Given the description of an element on the screen output the (x, y) to click on. 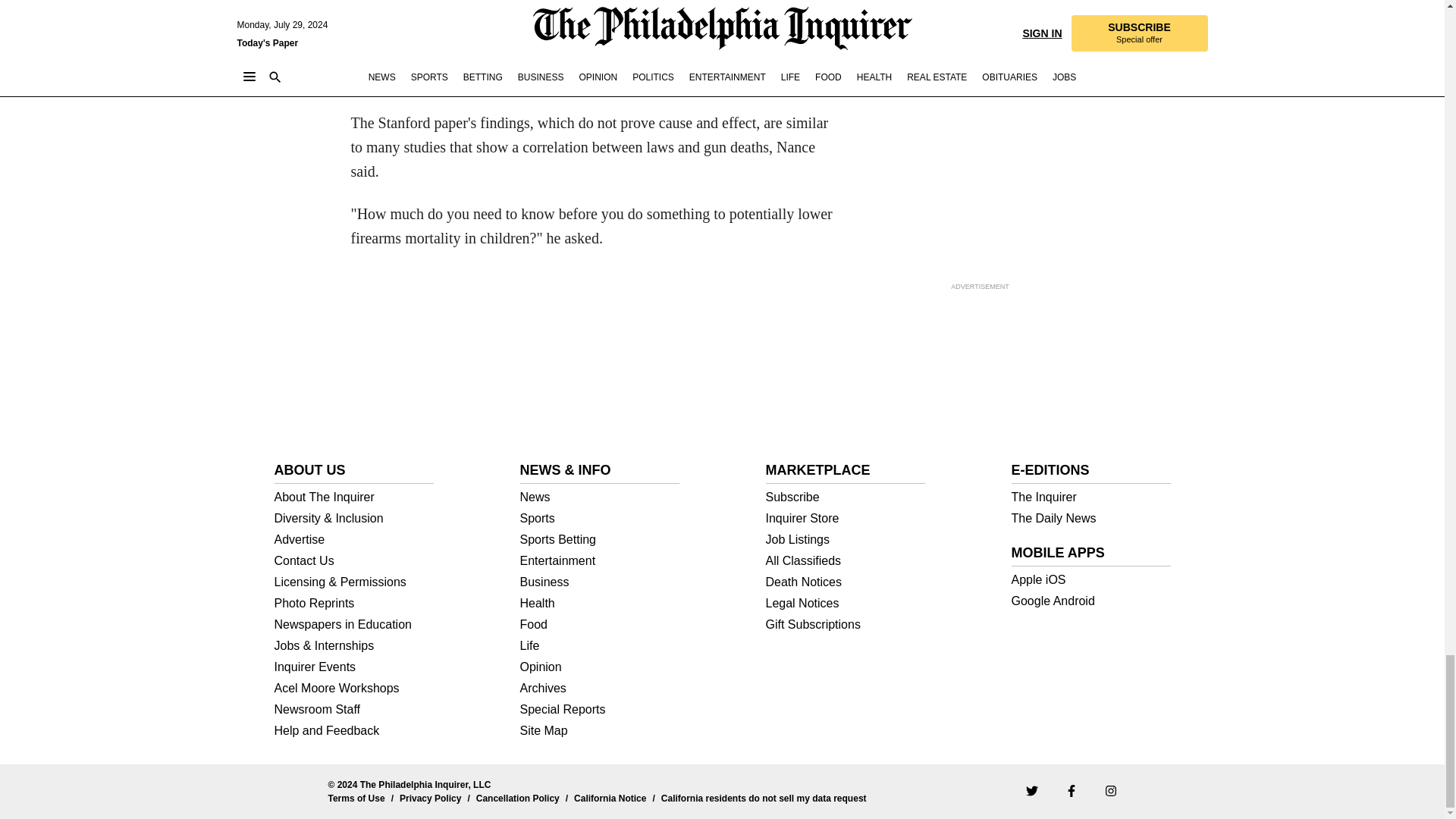
Twitter (1030, 790)
Instagram (1109, 790)
About The Inquirer (354, 497)
Facebook (1070, 790)
